Given the description of an element on the screen output the (x, y) to click on. 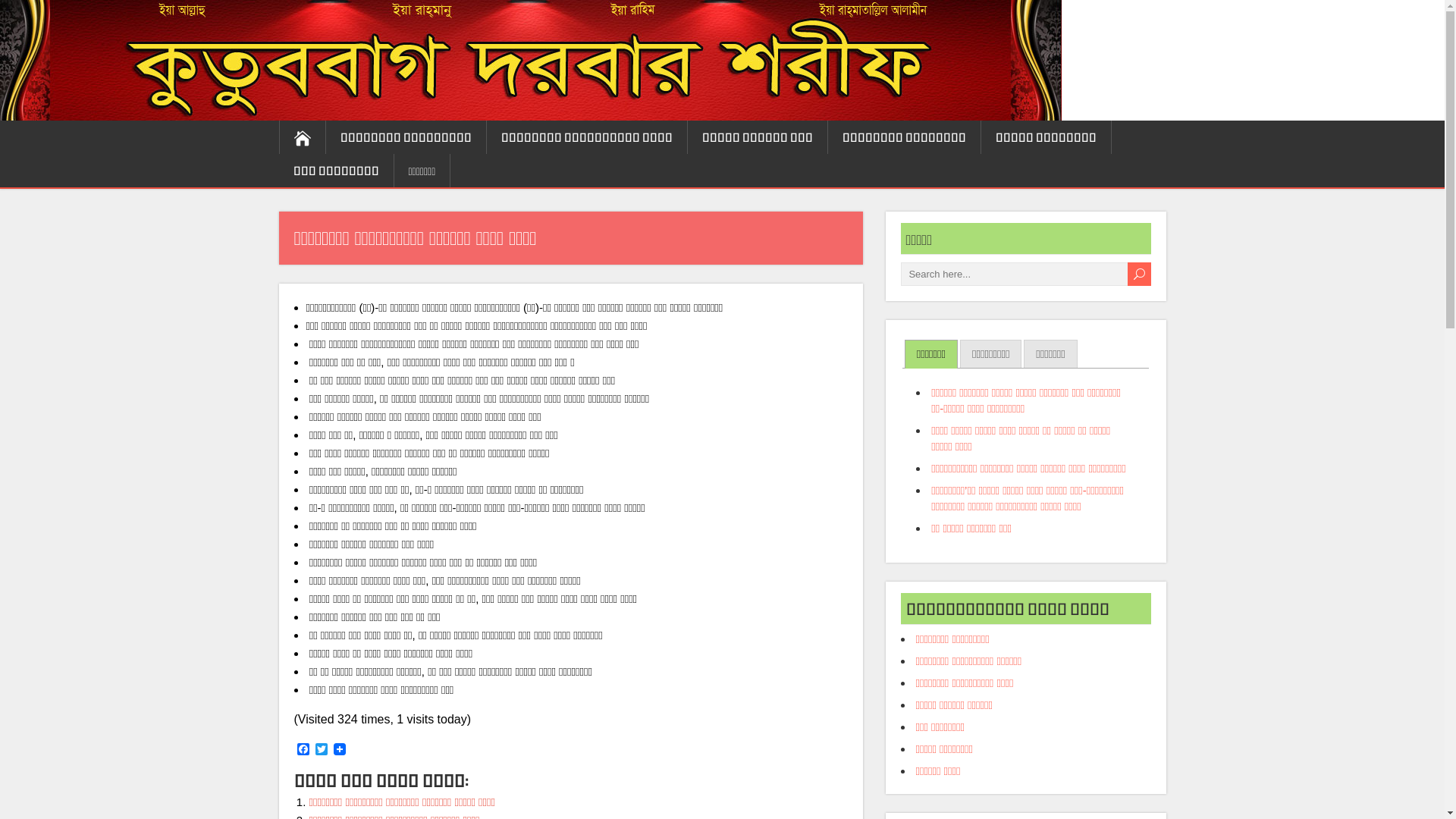
Facebook Element type: text (303, 750)
Twitter Element type: text (321, 750)
U Element type: text (1138, 273)
